Given the description of an element on the screen output the (x, y) to click on. 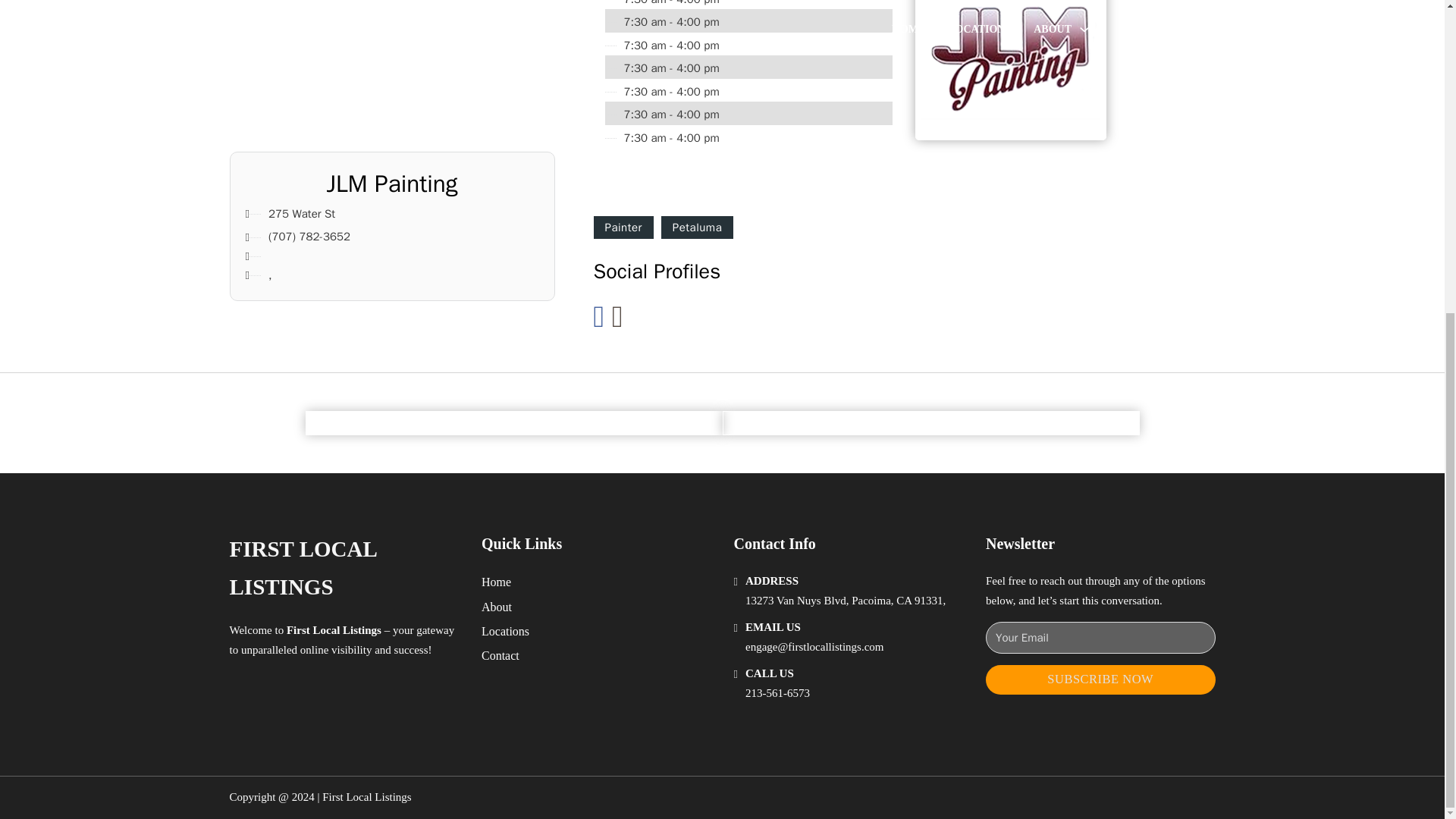
Painter (622, 227)
FIRST LOCAL LISTINGS (343, 568)
Petaluma (697, 227)
About (496, 607)
SUBSCRIBE NOW (1100, 679)
Locations (505, 630)
Home (496, 581)
213-561-6573 (777, 693)
Contact (500, 655)
